Given the description of an element on the screen output the (x, y) to click on. 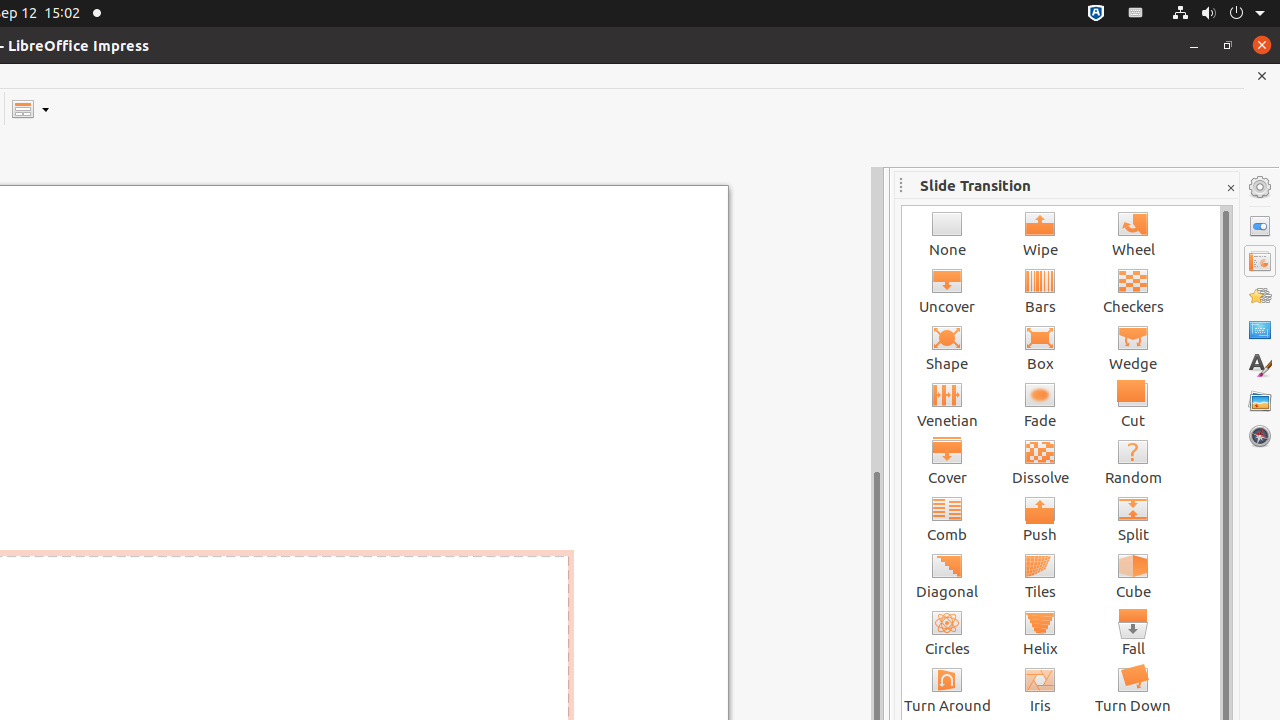
:1.21/StatusNotifierItem Element type: menu (1136, 13)
Wipe Element type: list-item (1040, 233)
Wheel Element type: list-item (1133, 233)
Cube Element type: list-item (1133, 575)
Turn Down Element type: list-item (1133, 689)
